Given the description of an element on the screen output the (x, y) to click on. 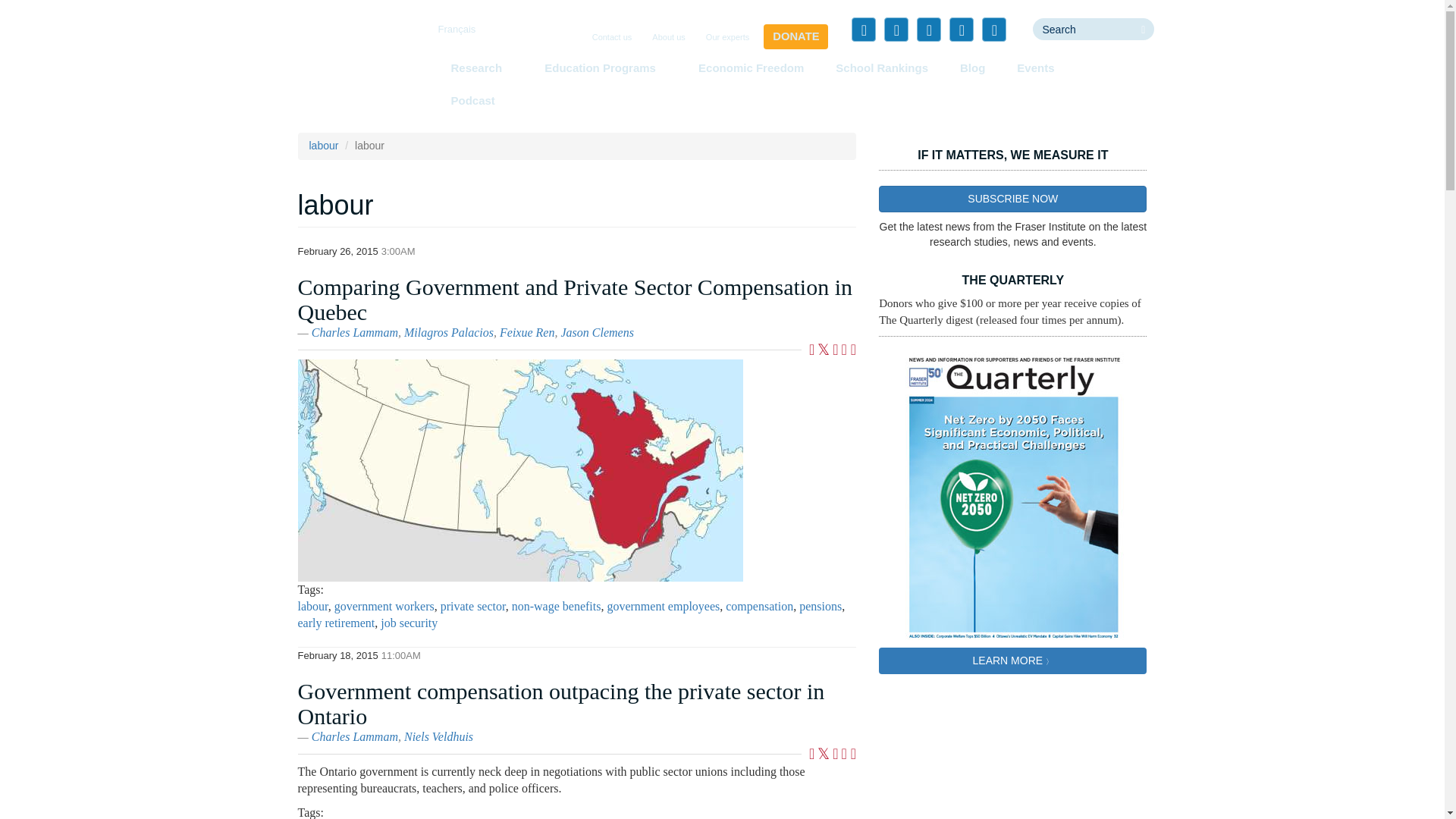
Research (481, 67)
Facebook (863, 29)
Contact us (612, 37)
YouTube (961, 29)
DONATE (795, 36)
School Rankings (882, 67)
LinkedIn (928, 29)
Twitter (895, 29)
Instagram (993, 29)
Enter the terms you wish to search for. (1082, 29)
Home (352, 56)
Search (1059, 45)
Our experts (727, 37)
About us (668, 37)
